Given the description of an element on the screen output the (x, y) to click on. 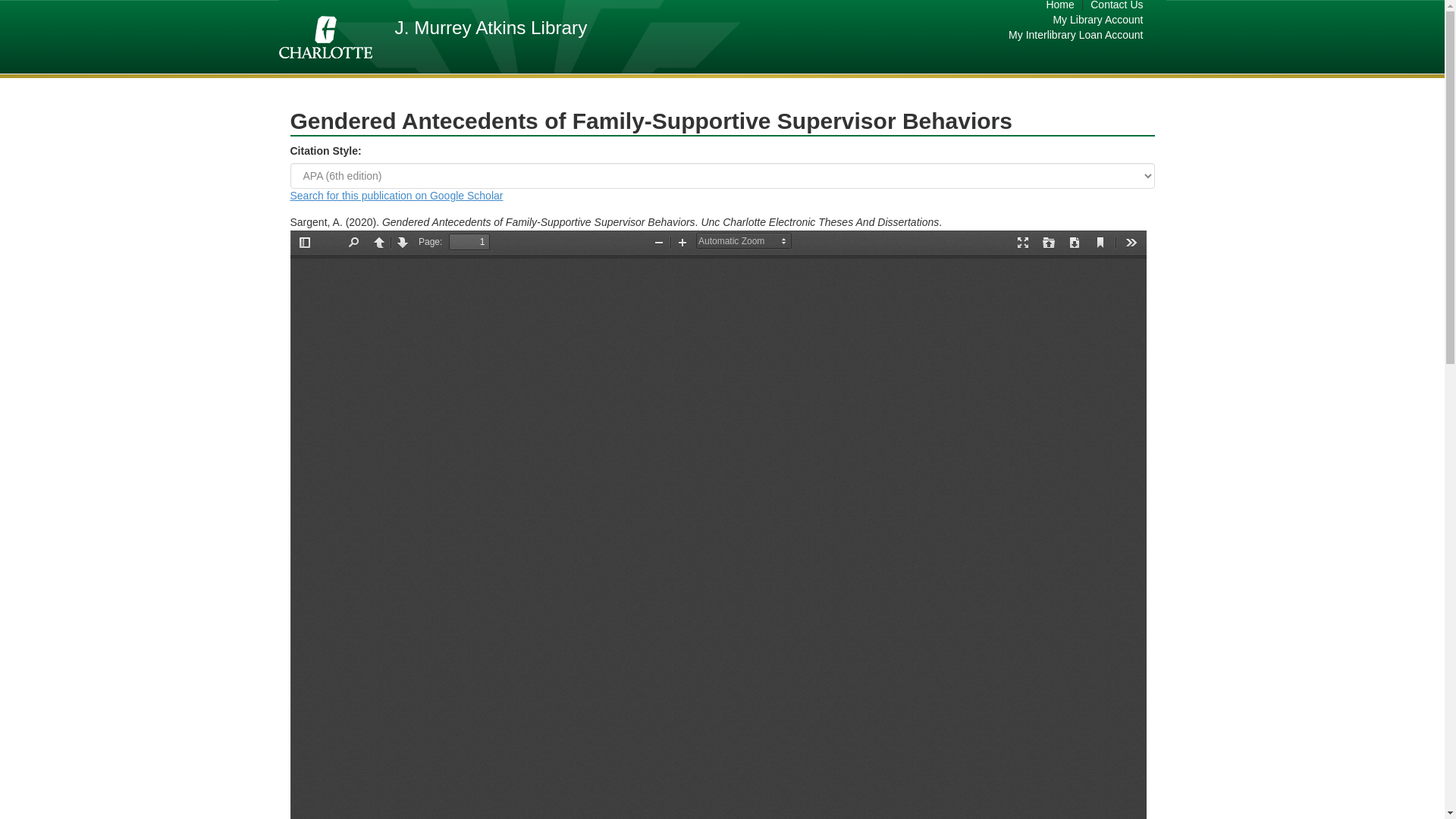
J. Murrey Atkins Library (490, 26)
Search for this publication on Google Scholar (395, 195)
Home (1059, 7)
Choose the citation style. (721, 175)
Go to UNC Charlotte homepage (324, 36)
My Interlibrary Loan Account (1075, 35)
Contact Us (1120, 7)
Go to UNC Charlotte homepage (325, 36)
My Library Account (1075, 20)
Return to J. Murrey Atkins Library main page (490, 26)
